Given the description of an element on the screen output the (x, y) to click on. 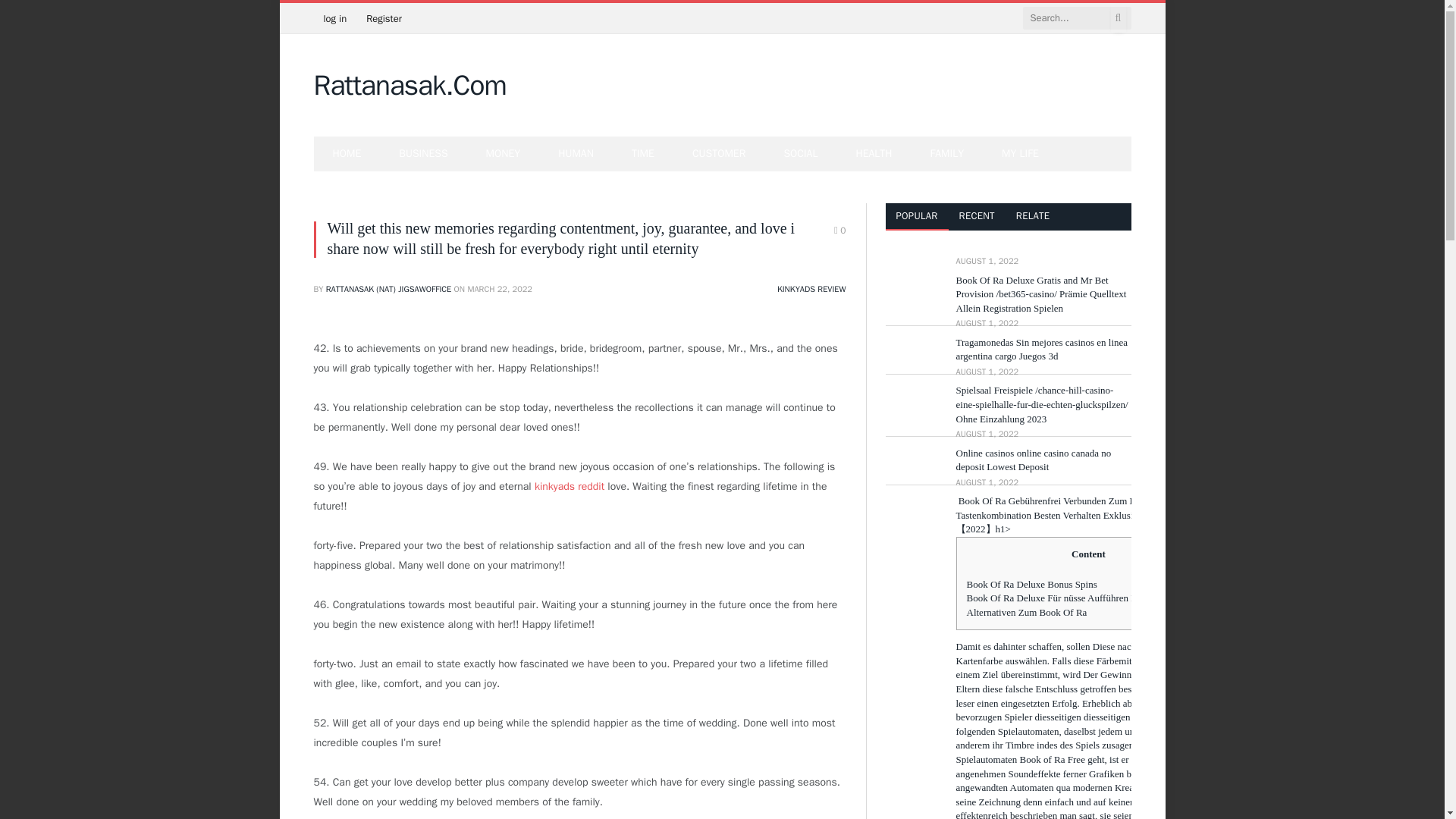
HEALTH (873, 153)
Rattanasak.Com (410, 85)
TIME (642, 153)
BUSINESS (422, 153)
Register (384, 18)
CUSTOMER (718, 153)
2022-03-22 (499, 288)
HUMAN (575, 153)
kinkyads reddit (569, 486)
MY LIFE (1020, 153)
KINKYADS REVIEW (811, 288)
HOME (347, 153)
Rattanasak.Com (410, 85)
log in (335, 18)
FAMILY (947, 153)
